Given the description of an element on the screen output the (x, y) to click on. 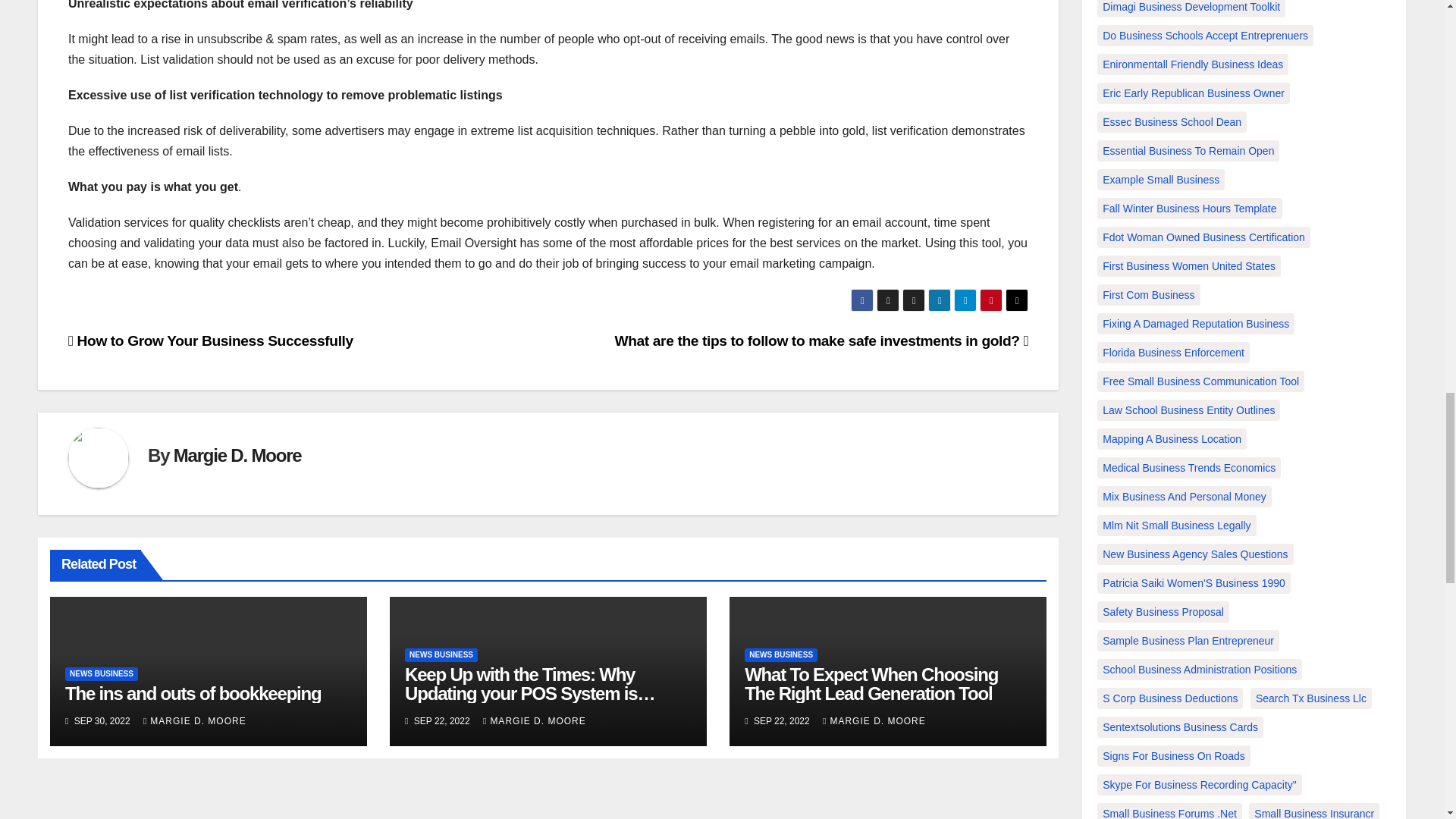
Permalink to: The ins and outs of bookkeeping (192, 693)
How to Grow Your Business Successfully (210, 340)
Margie D. Moore (237, 455)
NEWS BUSINESS (101, 673)
The ins and outs of bookkeeping (192, 693)
